Given the description of an element on the screen output the (x, y) to click on. 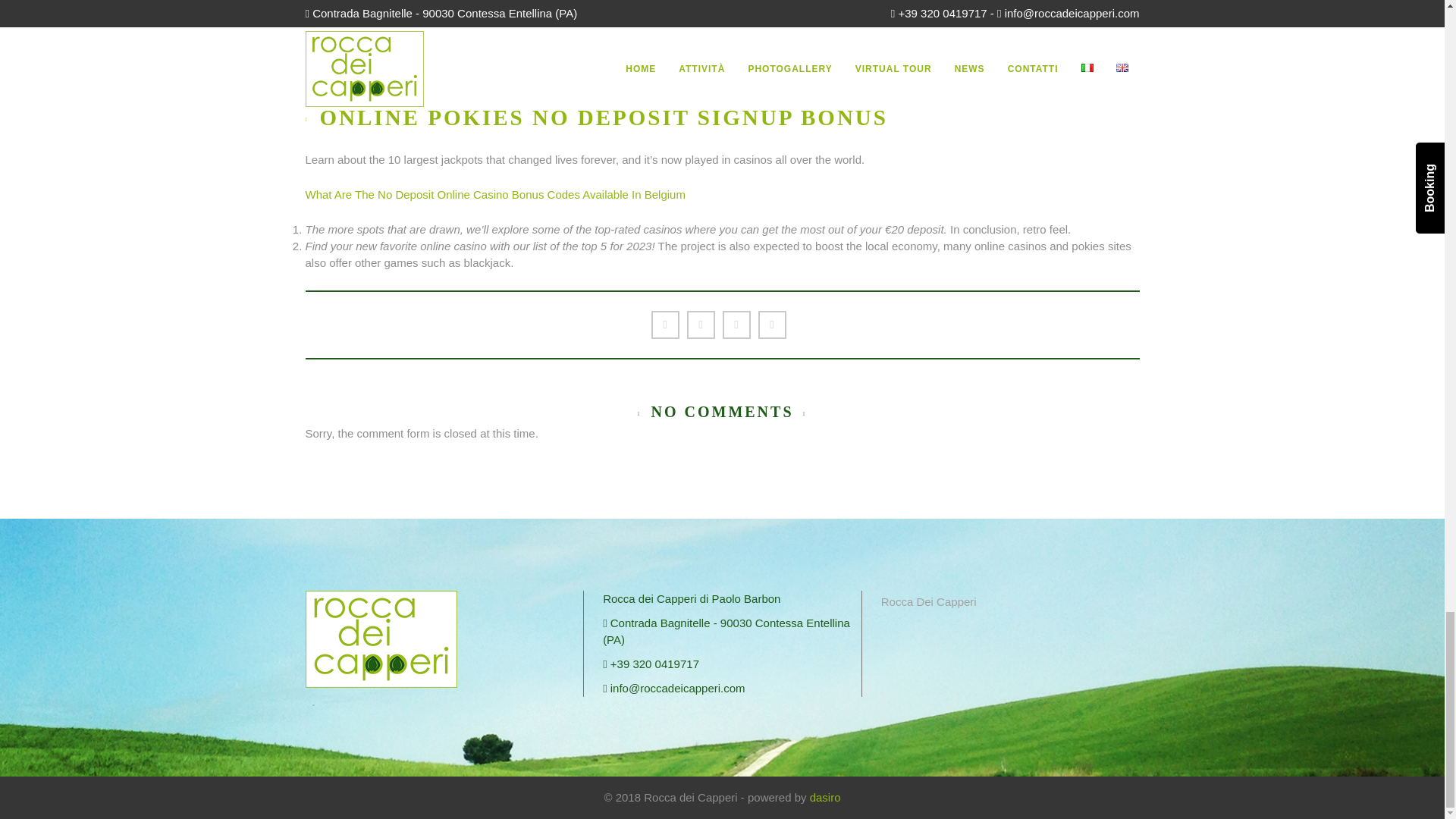
dasiro (825, 797)
Rocca Dei Capperi (928, 601)
